Given the description of an element on the screen output the (x, y) to click on. 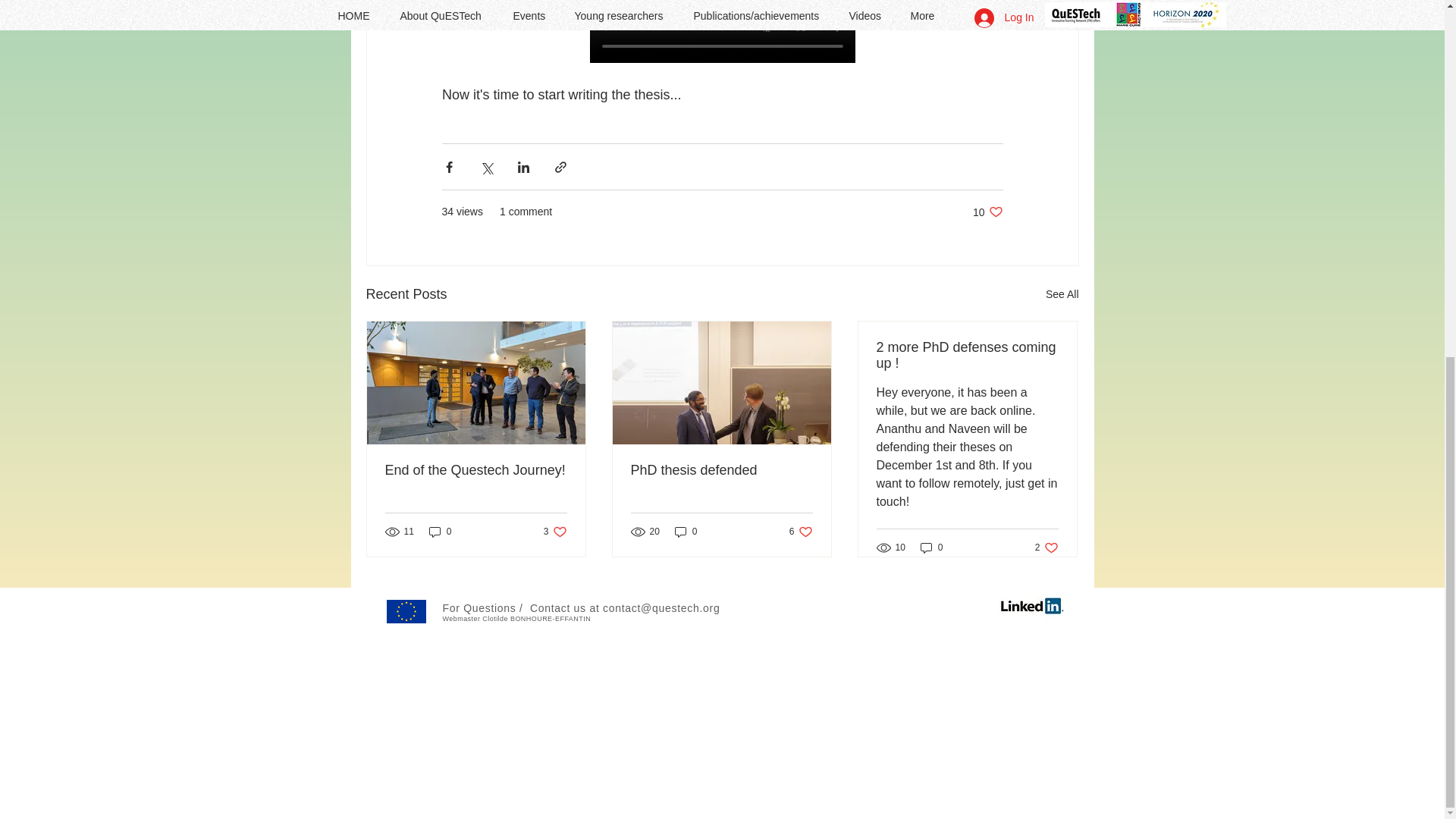
End of the Questech Journey! (555, 531)
Clotilde BONHOURE-EFFANTIN (476, 470)
0 (536, 618)
Twitter Follow (1046, 547)
0 (440, 531)
2 more PhD defenses coming up ! (939, 607)
PhD thesis defended (931, 547)
